Given the description of an element on the screen output the (x, y) to click on. 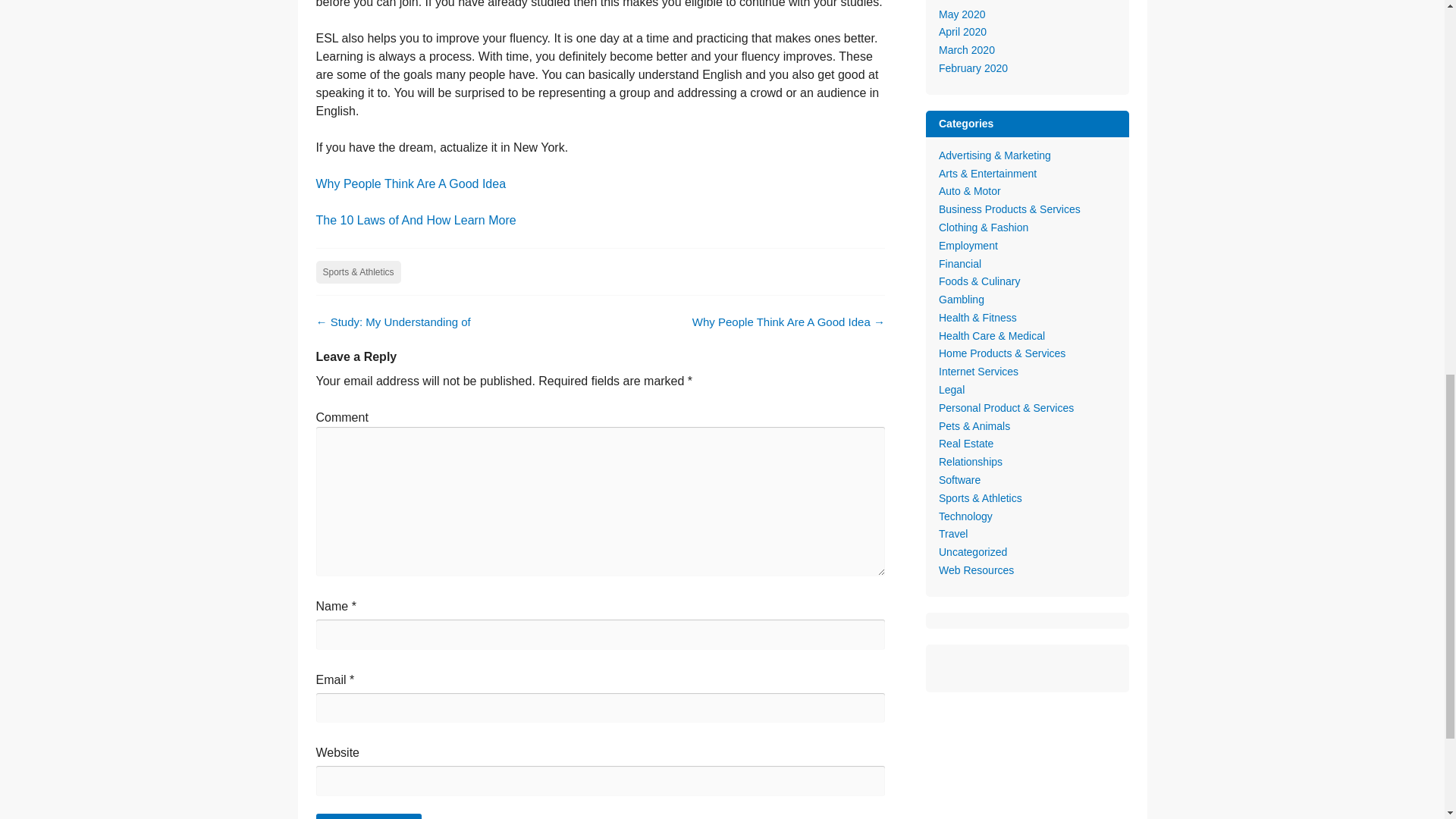
Post Comment (367, 816)
Why People Think Are A Good Idea (410, 183)
Post Comment (367, 816)
The 10 Laws of And How Learn More (415, 219)
